Given the description of an element on the screen output the (x, y) to click on. 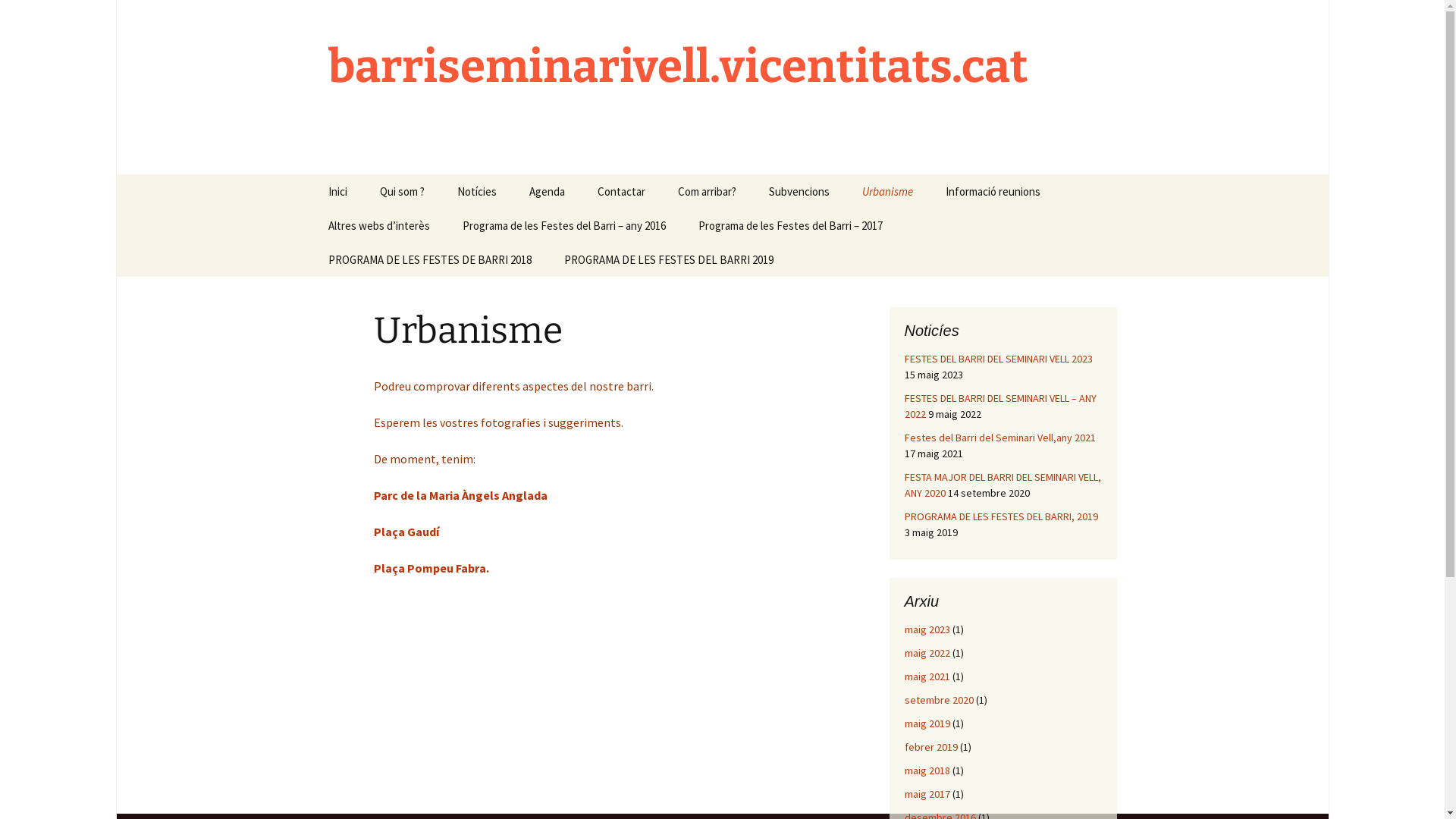
setembre 2020 Element type: text (937, 699)
Subvencions Element type: text (798, 191)
maig 2021 Element type: text (926, 676)
PROGRAMA DE LES FESTES DEL BARRI 2019 Element type: text (668, 259)
Inici Element type: text (336, 191)
Com arribar? Element type: text (706, 191)
Qui som ? Element type: text (401, 191)
Agenda Element type: text (547, 191)
PROGRAMA DE LES FESTES DE BARRI 2018 Element type: text (429, 259)
FESTA MAJOR DEL BARRI DEL SEMINARI VELL, ANY 2020 Element type: text (1001, 484)
Urbanisme Element type: text (886, 191)
barriseminarivell.vicentitats.cat Element type: text (721, 87)
FESTES DEL BARRI DEL SEMINARI VELL 2023 Element type: text (997, 358)
Contactar Element type: text (621, 191)
maig 2019 Element type: text (926, 723)
maig 2022 Element type: text (926, 652)
maig 2017 Element type: text (926, 793)
Festes del Barri del Seminari Vell,any 2021 Element type: text (999, 437)
maig 2018 Element type: text (926, 770)
febrer 2019 Element type: text (930, 746)
Cerca Element type: text (18, 16)
maig 2023 Element type: text (926, 629)
PROGRAMA DE LES FESTES DEL BARRI, 2019 Element type: text (1000, 516)
